Given the description of an element on the screen output the (x, y) to click on. 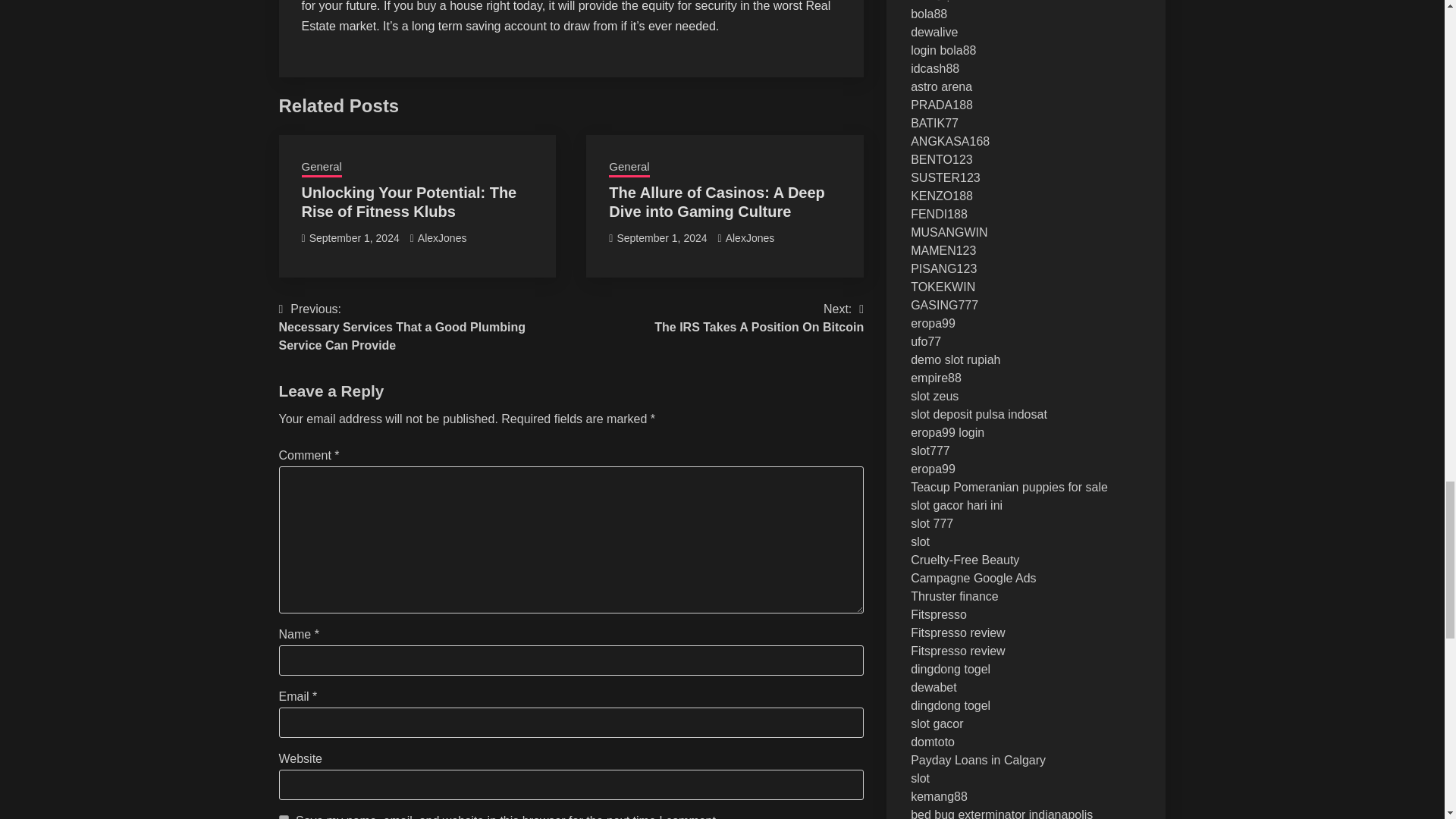
General (628, 168)
September 1, 2024 (660, 237)
Unlocking Your Potential: The Rise of Fitness Klubs (408, 202)
The Allure of Casinos: A Deep Dive into Gaming Culture (716, 202)
yes (283, 816)
AlexJones (442, 237)
General (321, 168)
AlexJones (749, 237)
